Given the description of an element on the screen output the (x, y) to click on. 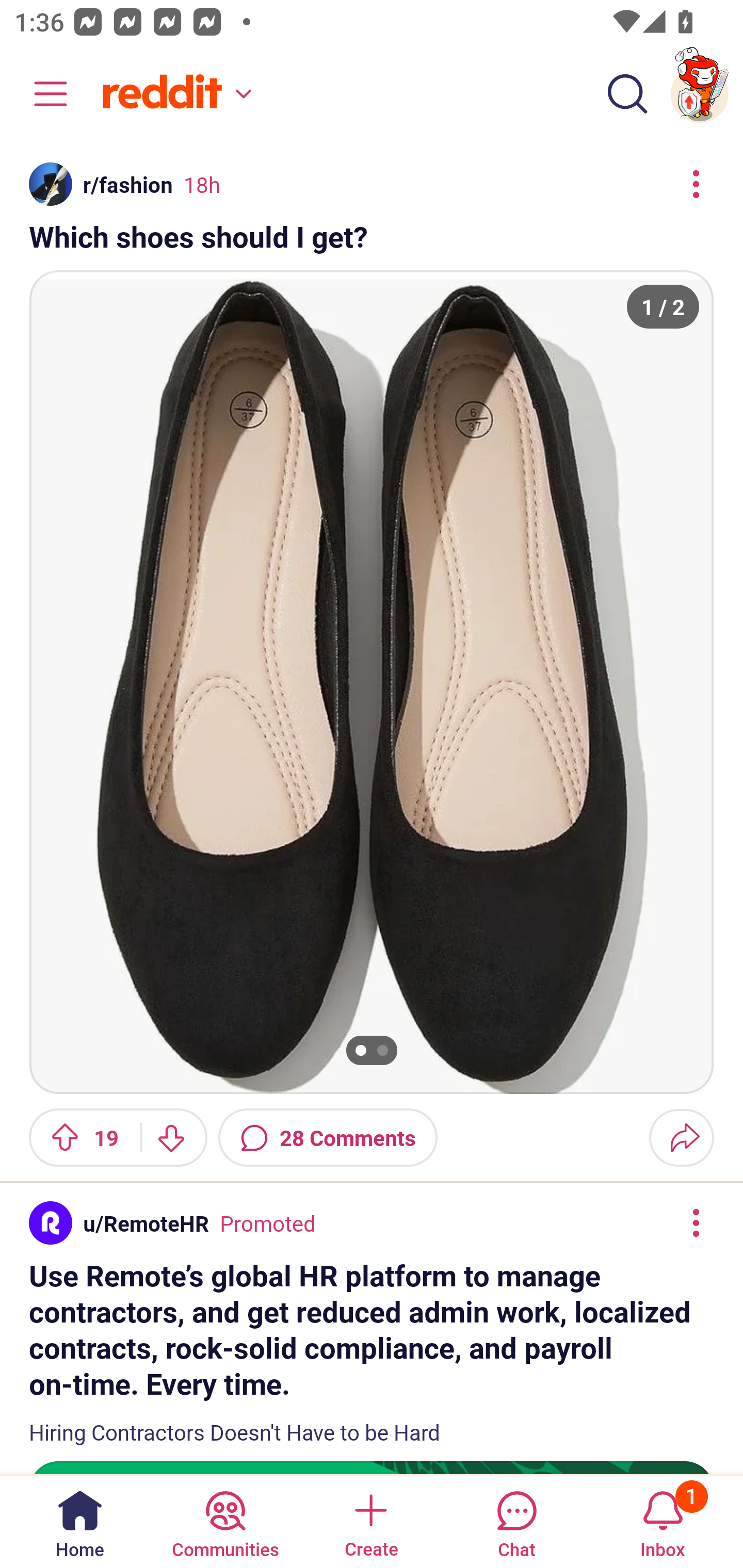
Search (626, 93)
TestAppium002 account (699, 93)
Community menu (41, 94)
Home feed (173, 94)
Home (80, 1520)
Communities (225, 1520)
Create a post Create (370, 1520)
Chat (516, 1520)
Inbox, has 1 notification 1 Inbox (662, 1520)
